Given the description of an element on the screen output the (x, y) to click on. 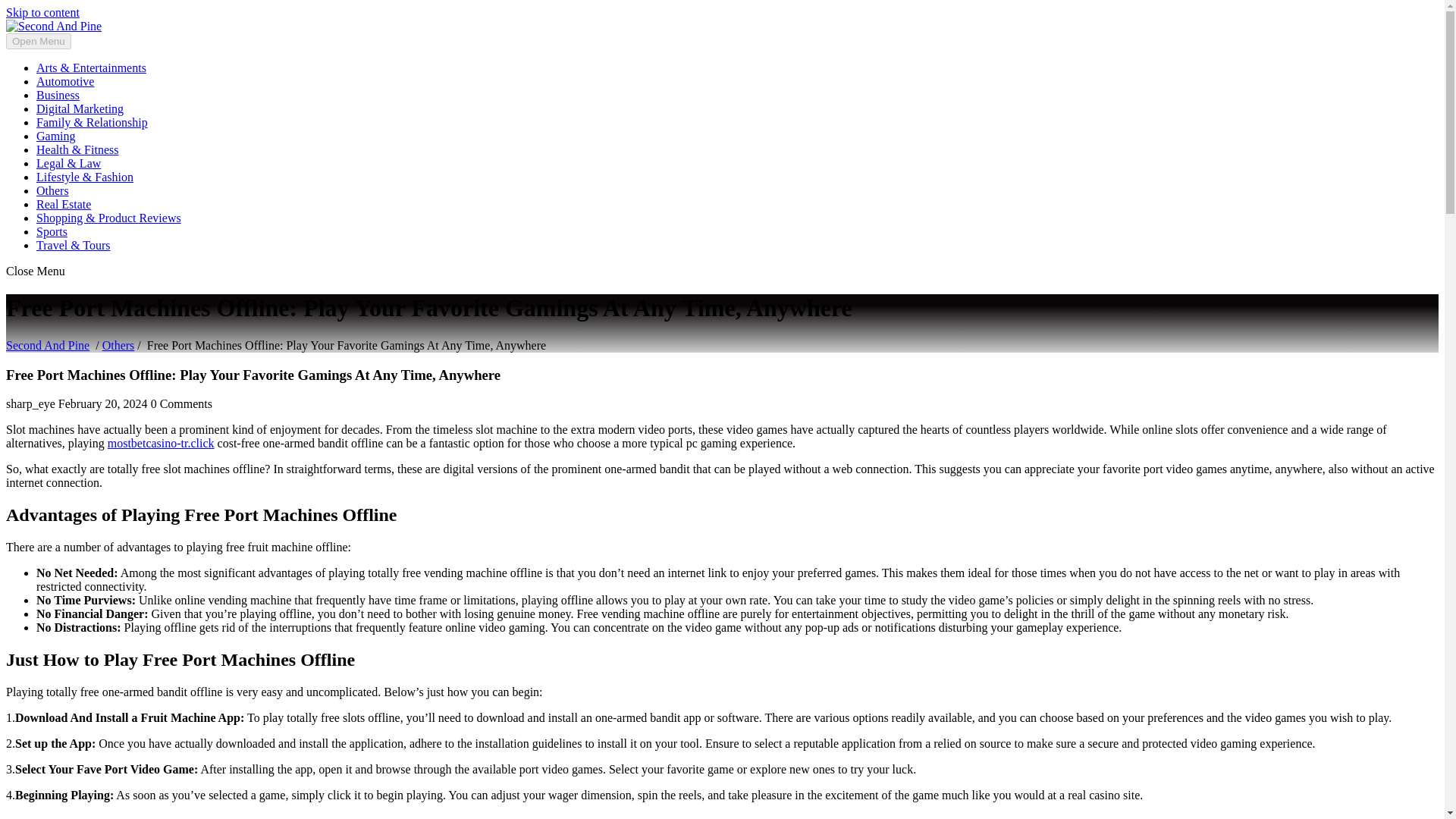
Close Menu (35, 270)
Business (58, 94)
mostbetcasino-tr.click (160, 442)
Second And Pine (46, 345)
Others (118, 345)
Gaming (55, 135)
Digital Marketing (79, 108)
Real Estate (63, 204)
Others (52, 190)
Open Menu (38, 41)
